Given the description of an element on the screen output the (x, y) to click on. 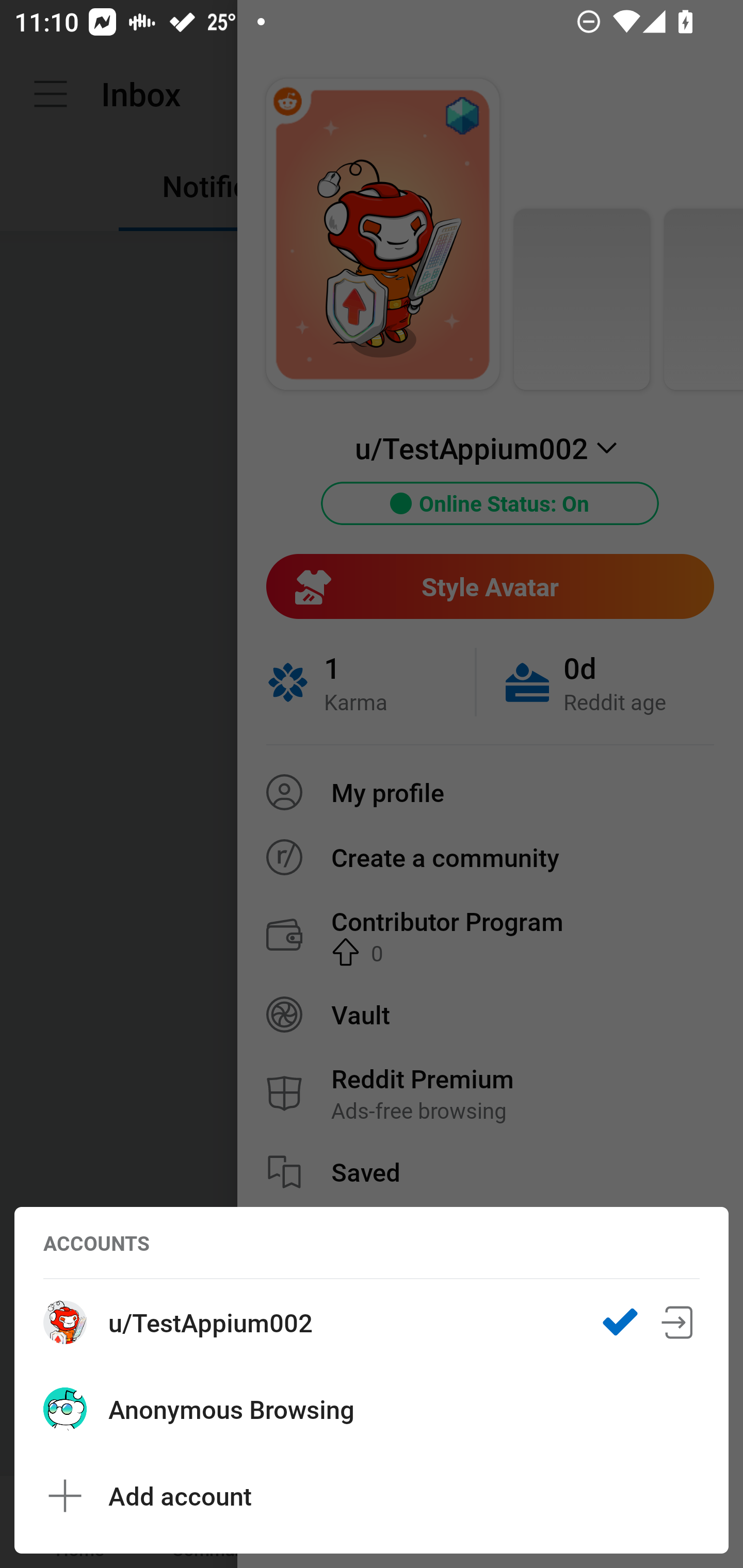
Custom avatar u/TestAppium002 Remove account (371, 1322)
Remove account (677, 1322)
Avatar Anonymous Browsing (371, 1408)
Avatar Add account (371, 1495)
